Given the description of an element on the screen output the (x, y) to click on. 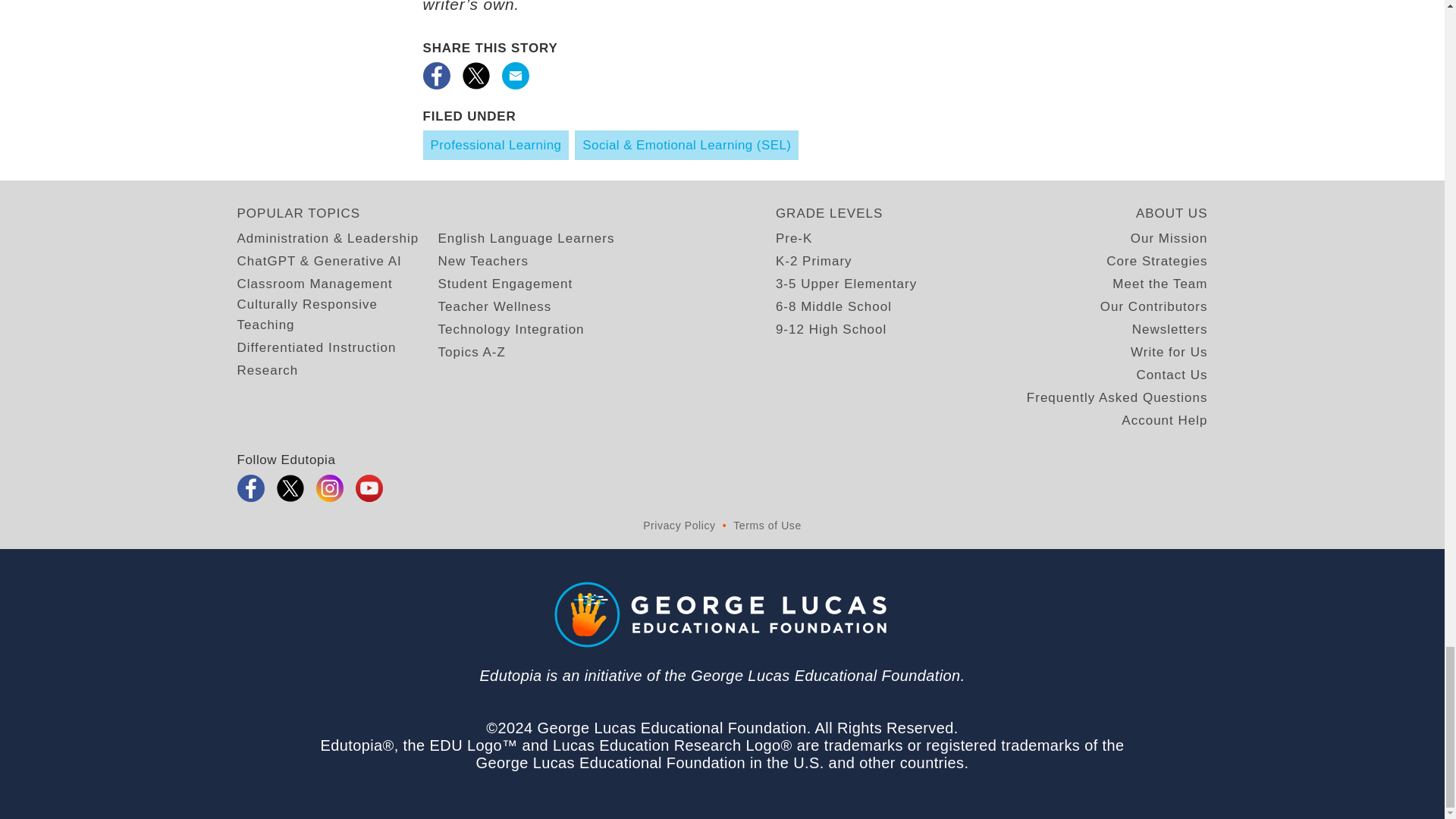
English Language Learners (526, 238)
Differentiated Instruction (315, 347)
New Teachers (483, 260)
Culturally Responsive Teaching (336, 314)
Pre-K (794, 238)
Professional Learning (496, 144)
Student Engagement (505, 283)
Topics A-Z (471, 352)
Technology Integration (511, 329)
Research (266, 370)
